Given the description of an element on the screen output the (x, y) to click on. 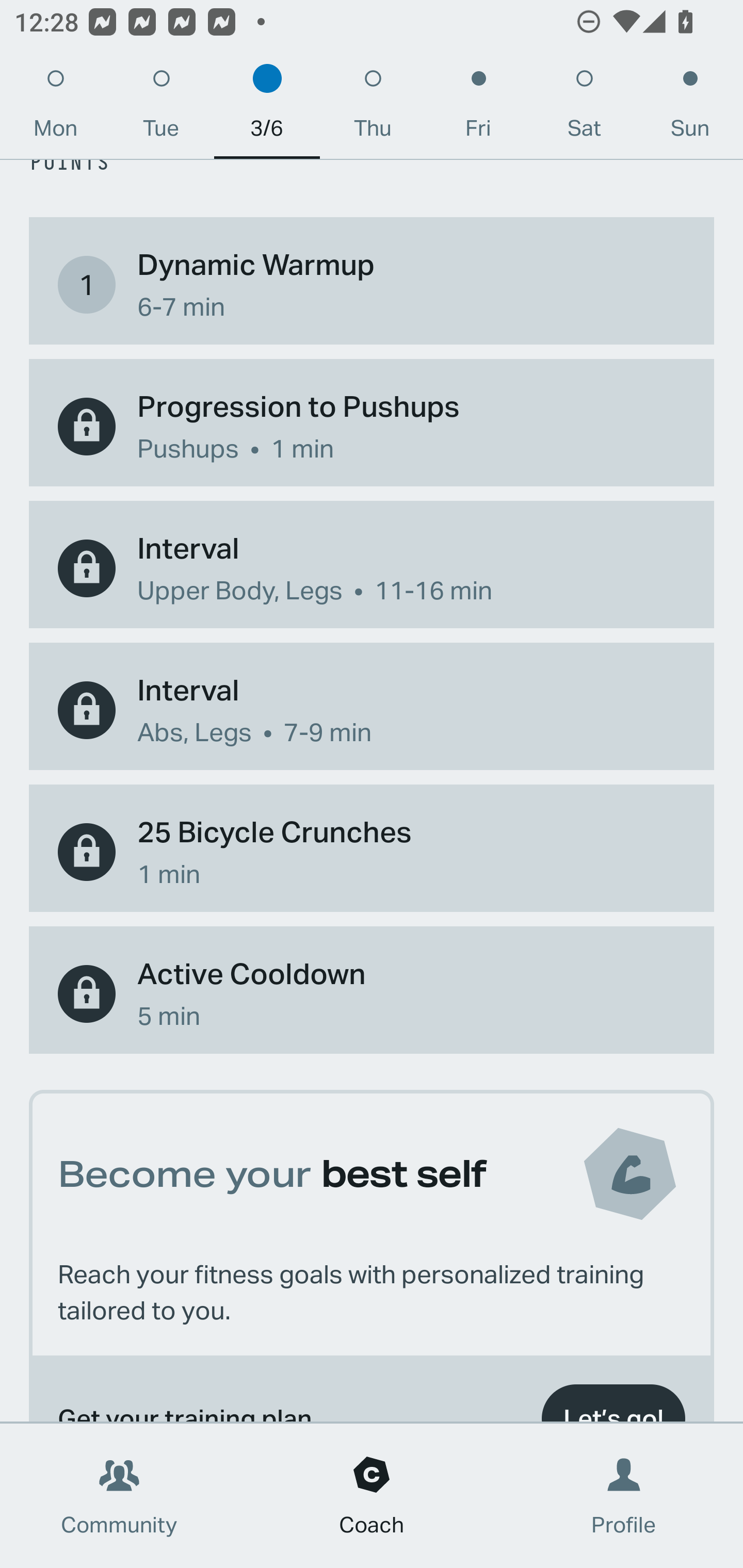
Mon (55, 108)
Tue (160, 108)
3/6 (266, 108)
Thu (372, 108)
Fri (478, 108)
Sat (584, 108)
Sun (690, 108)
1 Dynamic Warmup 6-7 min (371, 284)
Progression to Pushups Pushups  •  1 min (371, 426)
Interval Upper Body, Legs  •  11-16 min (371, 568)
Interval Abs, Legs  •  7-9 min (371, 710)
25 Bicycle Crunches 1 min (371, 852)
Active Cooldown 5 min (371, 994)
Community (119, 1495)
Profile (624, 1495)
